Given the description of an element on the screen output the (x, y) to click on. 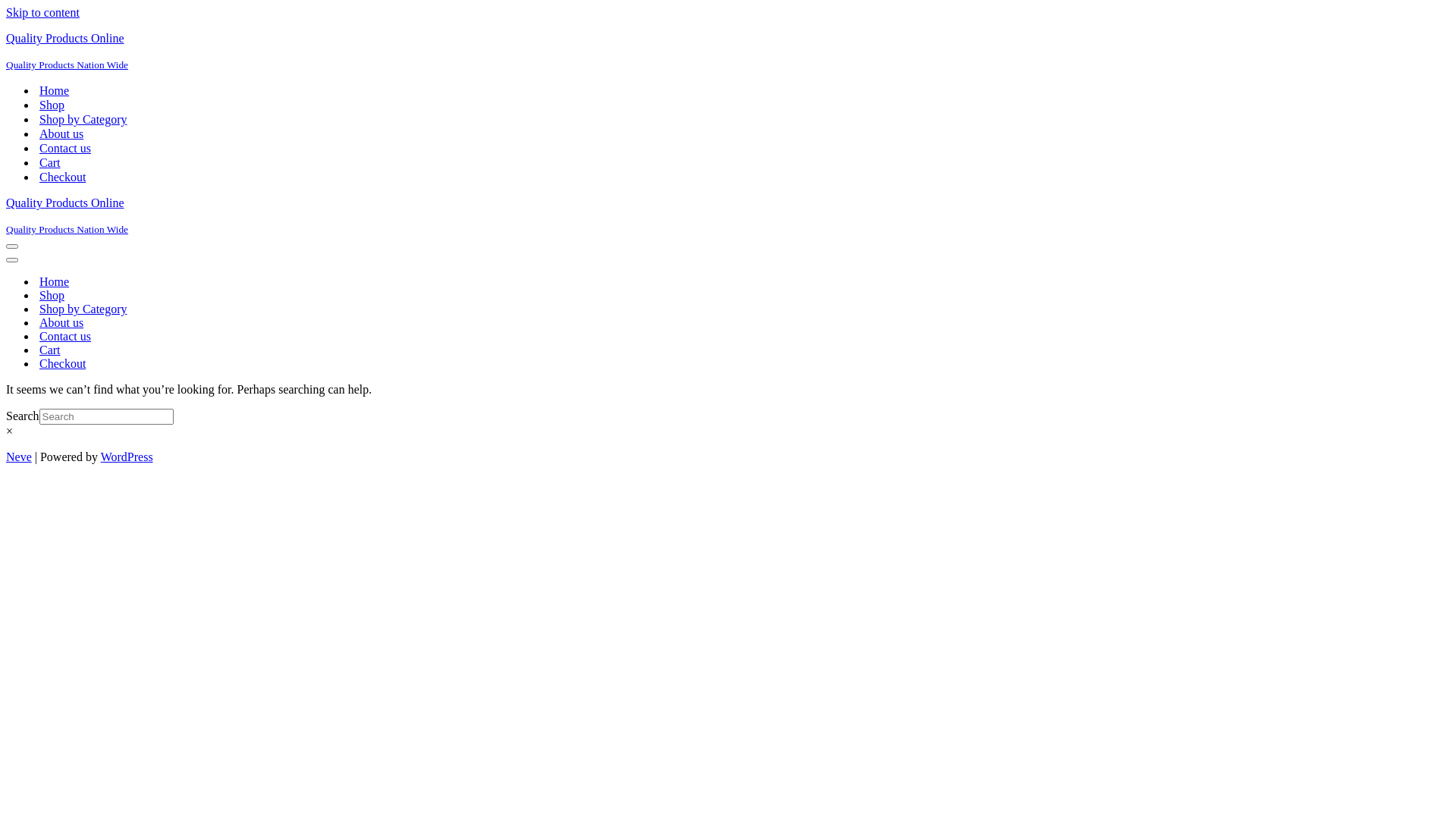
Neve Element type: text (18, 456)
Navigation Menu Element type: text (12, 246)
WordPress Element type: text (126, 456)
Quality Products Online
Quality Products Nation Wide Element type: text (727, 215)
Checkout Element type: text (62, 176)
Shop by Category Element type: text (83, 119)
About us Element type: text (61, 133)
Quality Products Online
Quality Products Nation Wide Element type: text (727, 51)
Cart Element type: text (49, 350)
Shop Element type: text (51, 104)
Shop by Category Element type: text (83, 309)
Contact us Element type: text (65, 336)
Checkout Element type: text (62, 363)
About us Element type: text (61, 322)
Navigation Menu Element type: text (12, 259)
Home Element type: text (54, 90)
Contact us Element type: text (65, 148)
Skip to content Element type: text (42, 12)
Shop Element type: text (51, 295)
Cart Element type: text (49, 162)
Home Element type: text (54, 281)
